Given the description of an element on the screen output the (x, y) to click on. 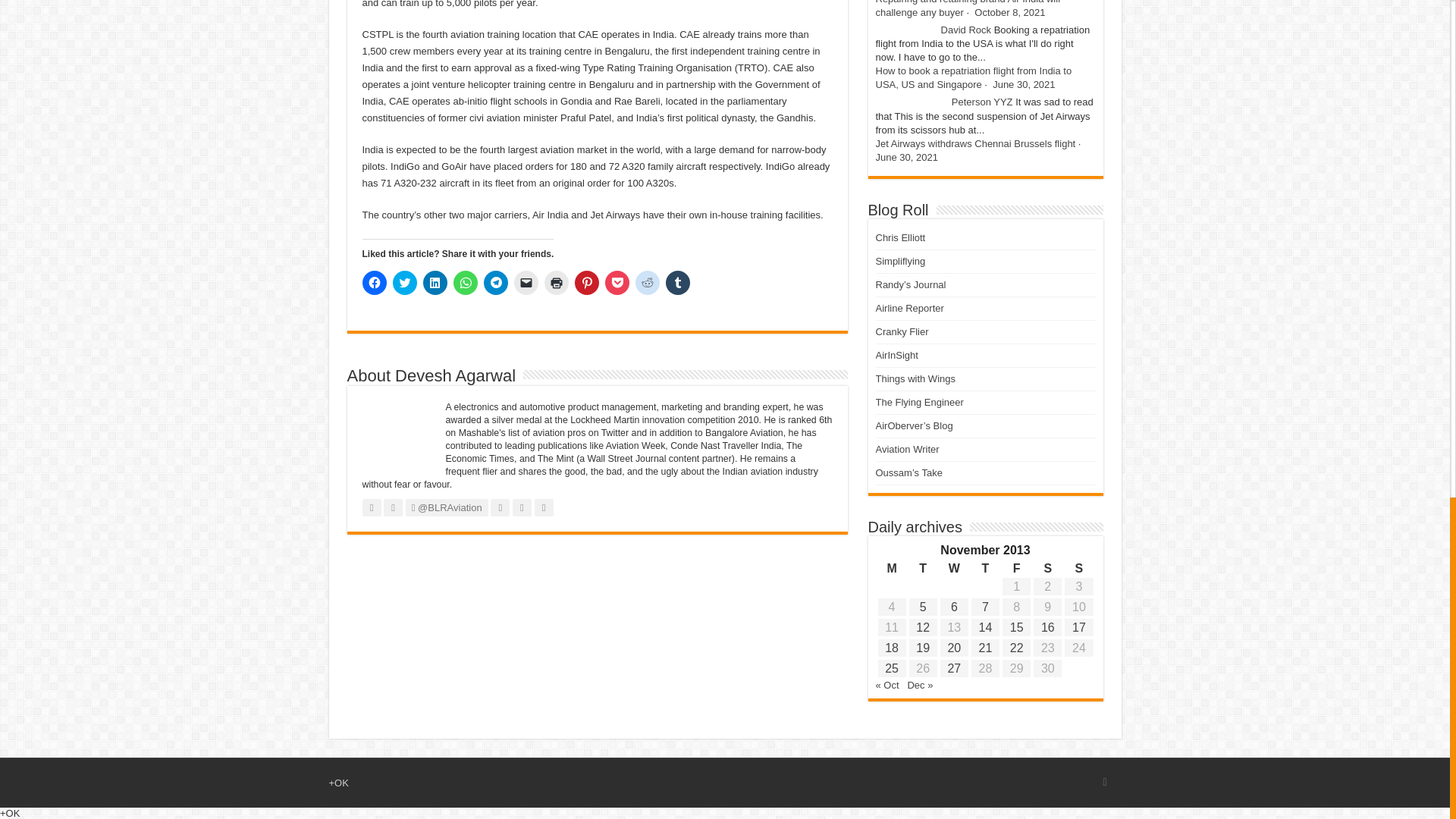
Click to share on Telegram (495, 282)
Click to share on Facebook (374, 282)
Click to email a link to a friend (525, 282)
Click to share on LinkedIn (434, 282)
Click to share on WhatsApp (464, 282)
Click to print (556, 282)
Click to share on Twitter (404, 282)
Click to share on Pinterest (586, 282)
